Given the description of an element on the screen output the (x, y) to click on. 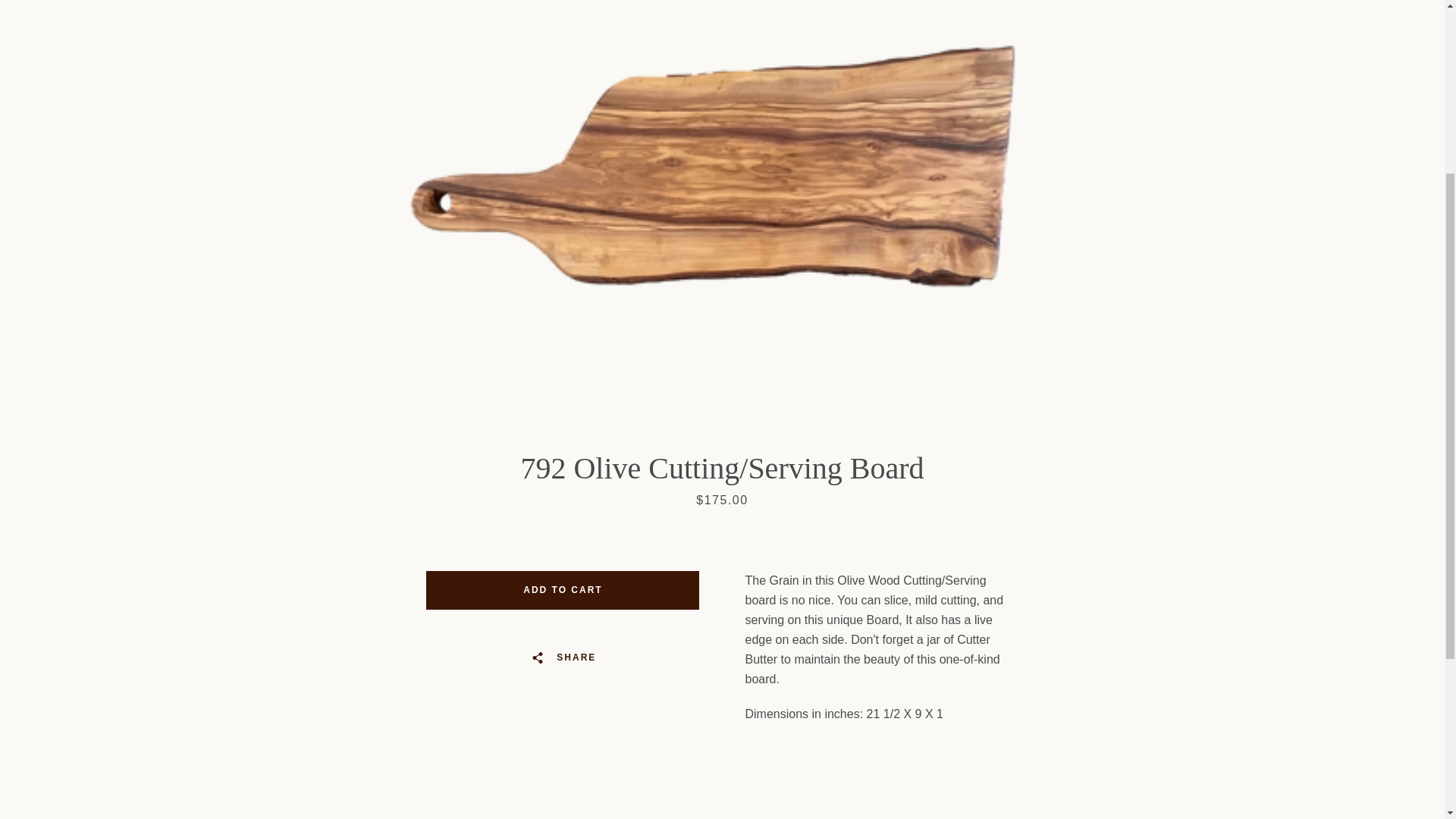
Google Pay (1057, 479)
Visa (1057, 502)
SEARCH (394, 334)
Stetson Wood Collection (740, 480)
Mastercard (918, 502)
PayPal (953, 502)
American Express (883, 479)
SUBSCRIBE (1029, 404)
Shop Pay (988, 502)
Discover (988, 479)
